Given the description of an element on the screen output the (x, y) to click on. 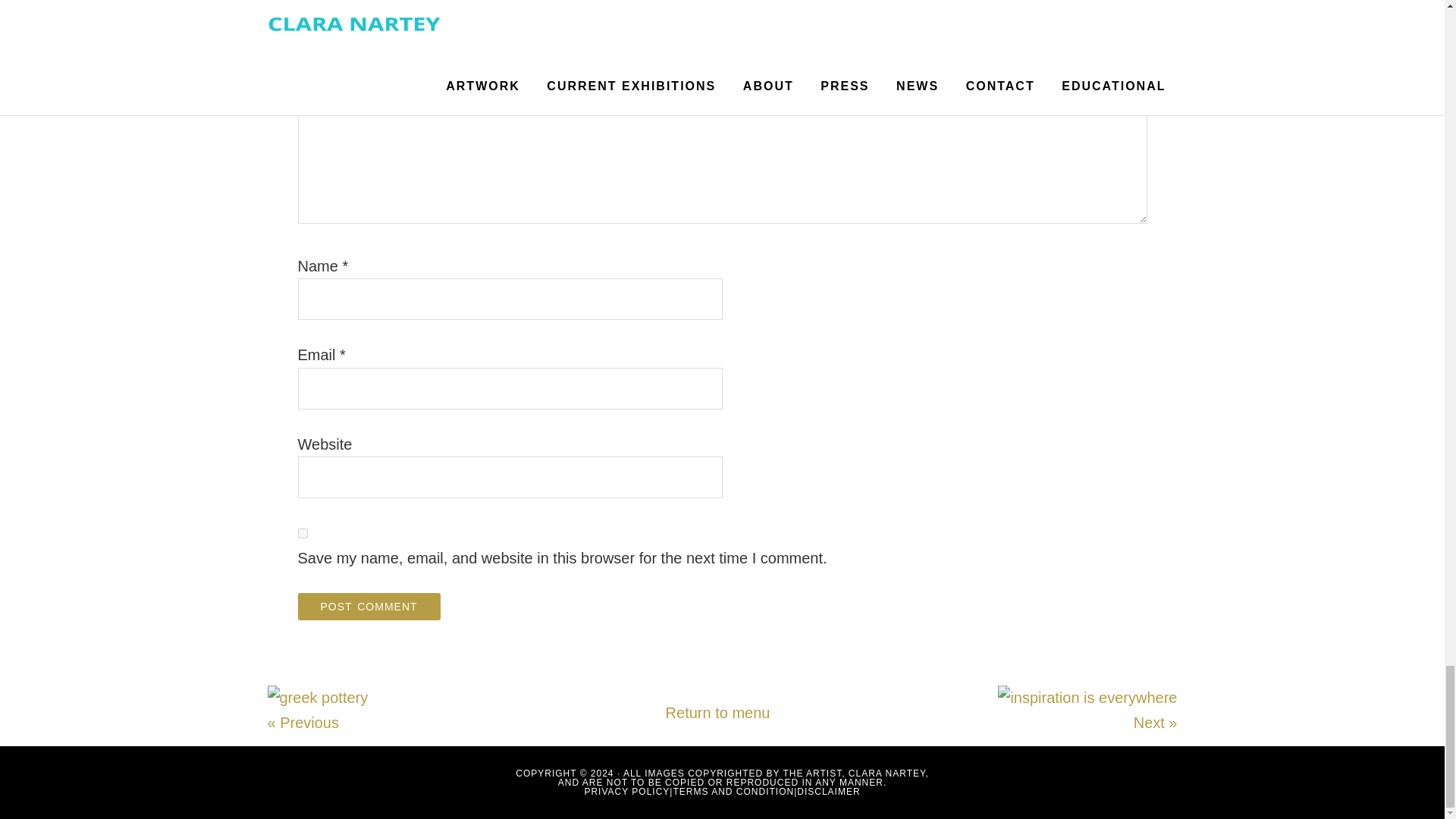
Post Comment (368, 605)
Post Comment (368, 605)
yes (302, 533)
